Given the description of an element on the screen output the (x, y) to click on. 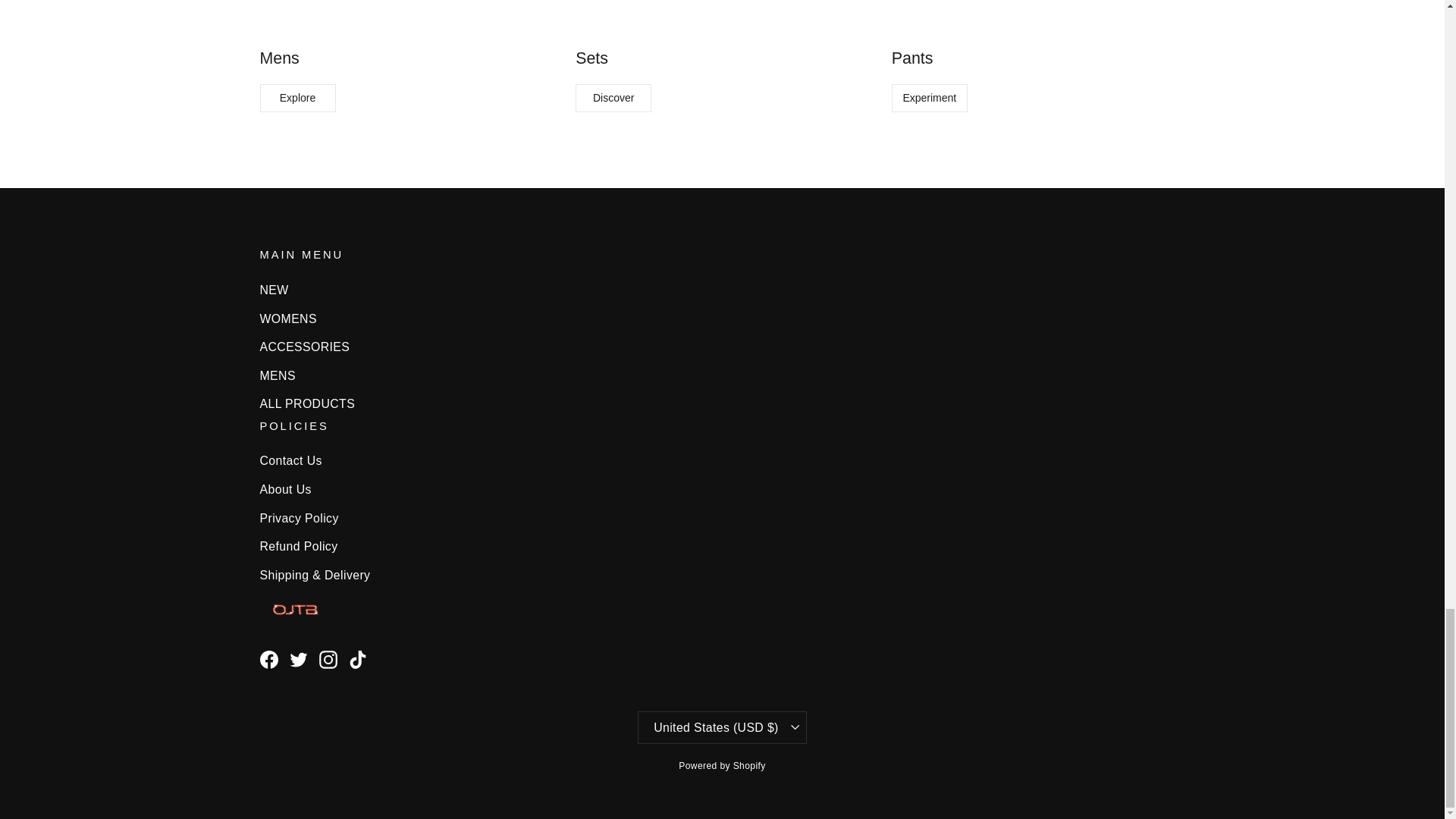
orangejuicethebrand on Instagram (327, 659)
orangejuicethebrand on Twitter (298, 659)
orangejuicethebrand on TikTok (357, 659)
